Given the description of an element on the screen output the (x, y) to click on. 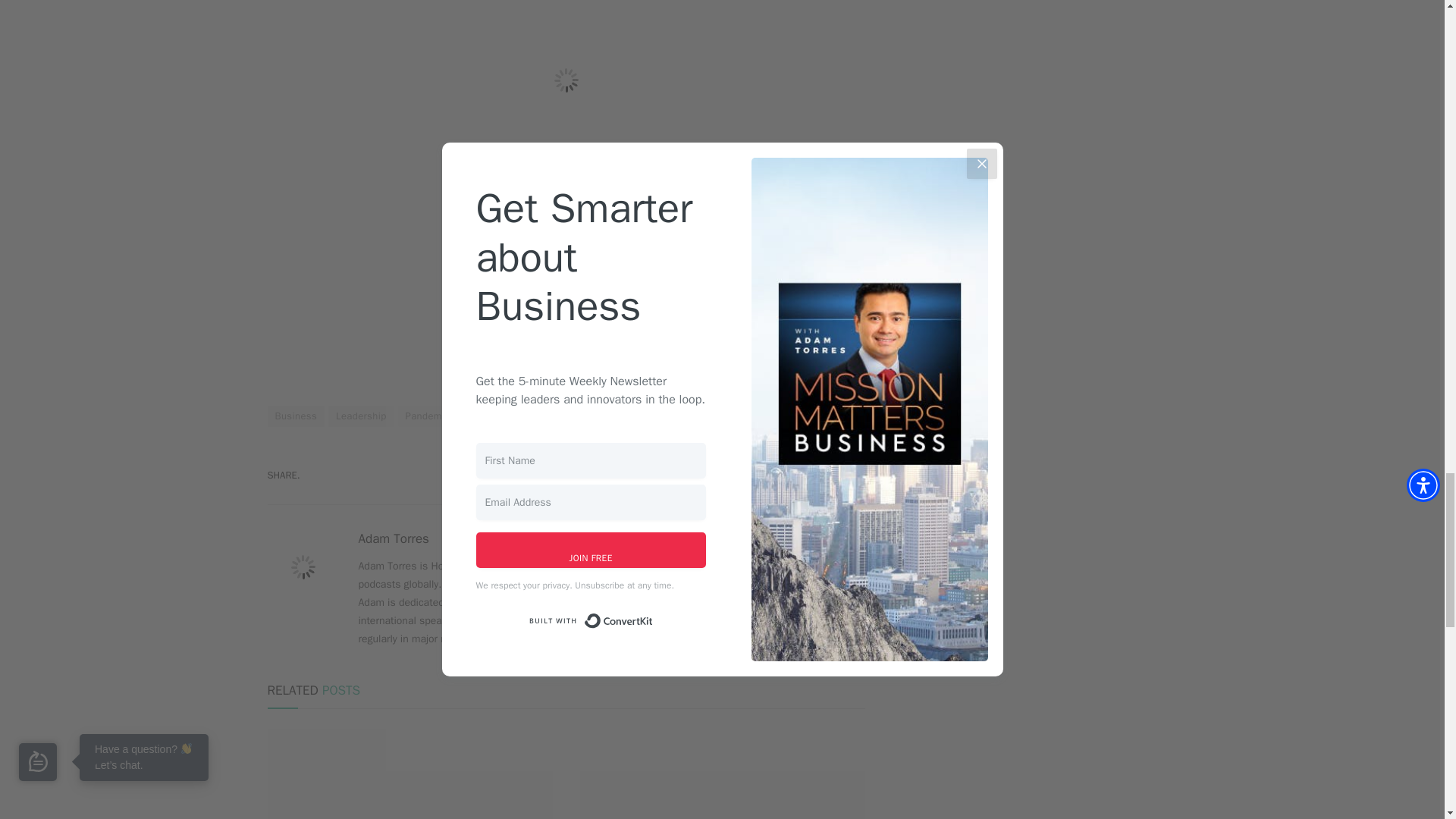
Share on Tumblr (781, 475)
Facebook (788, 540)
Share via Email (837, 475)
LinkedIn (856, 540)
Instagram (834, 540)
Share on LinkedIn (725, 475)
Twitter (810, 540)
Share on Facebook (557, 475)
Share on Pinterest (669, 475)
Posts by Adam Torres (393, 539)
